Given the description of an element on the screen output the (x, y) to click on. 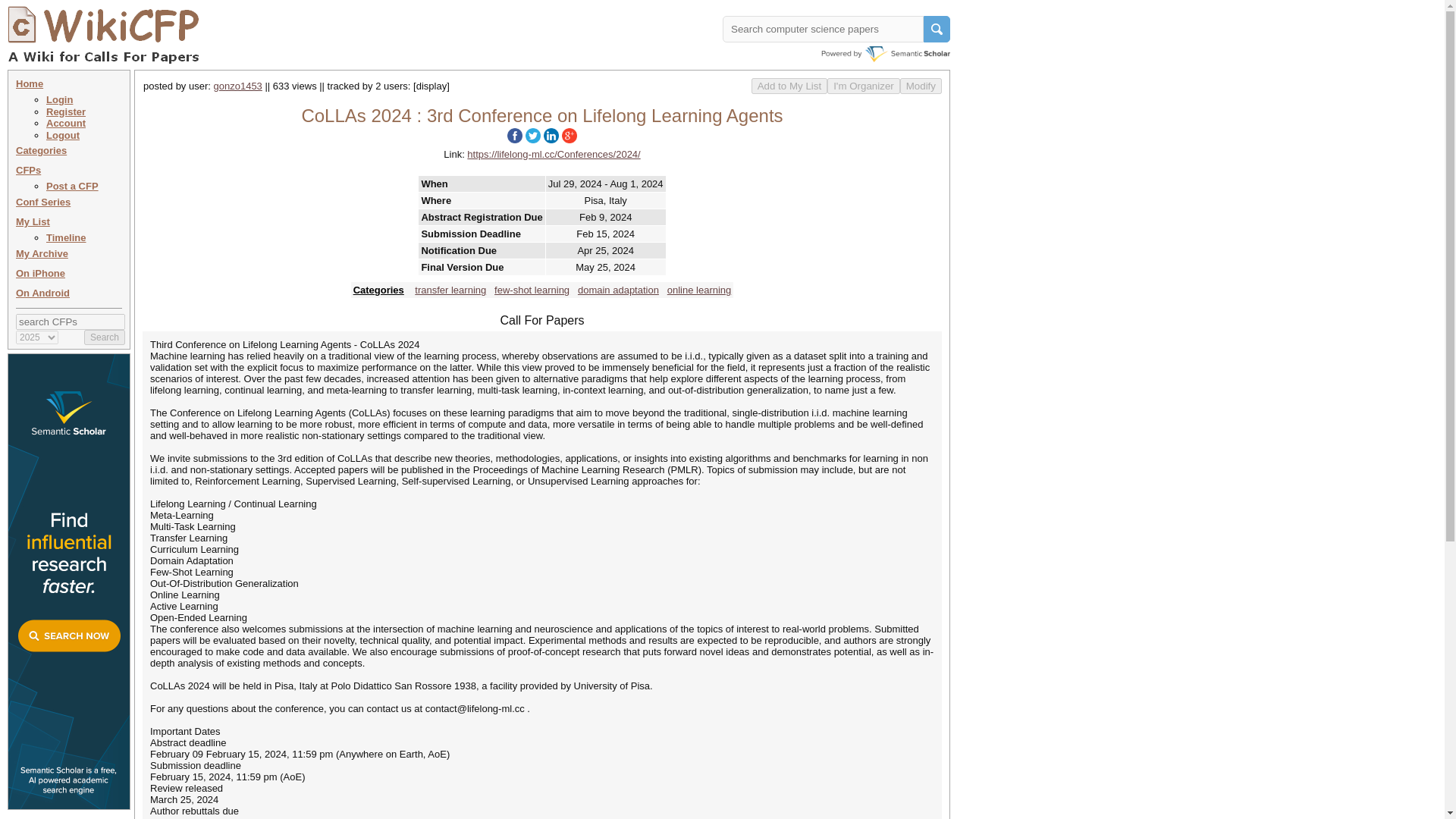
Search (104, 337)
Logout (63, 134)
I'm Organizer (863, 85)
My Archive (42, 253)
Account (65, 122)
Search (104, 337)
gonzo1453 (238, 85)
Login (59, 99)
Add to My List (789, 85)
Modify (920, 85)
